Given the description of an element on the screen output the (x, y) to click on. 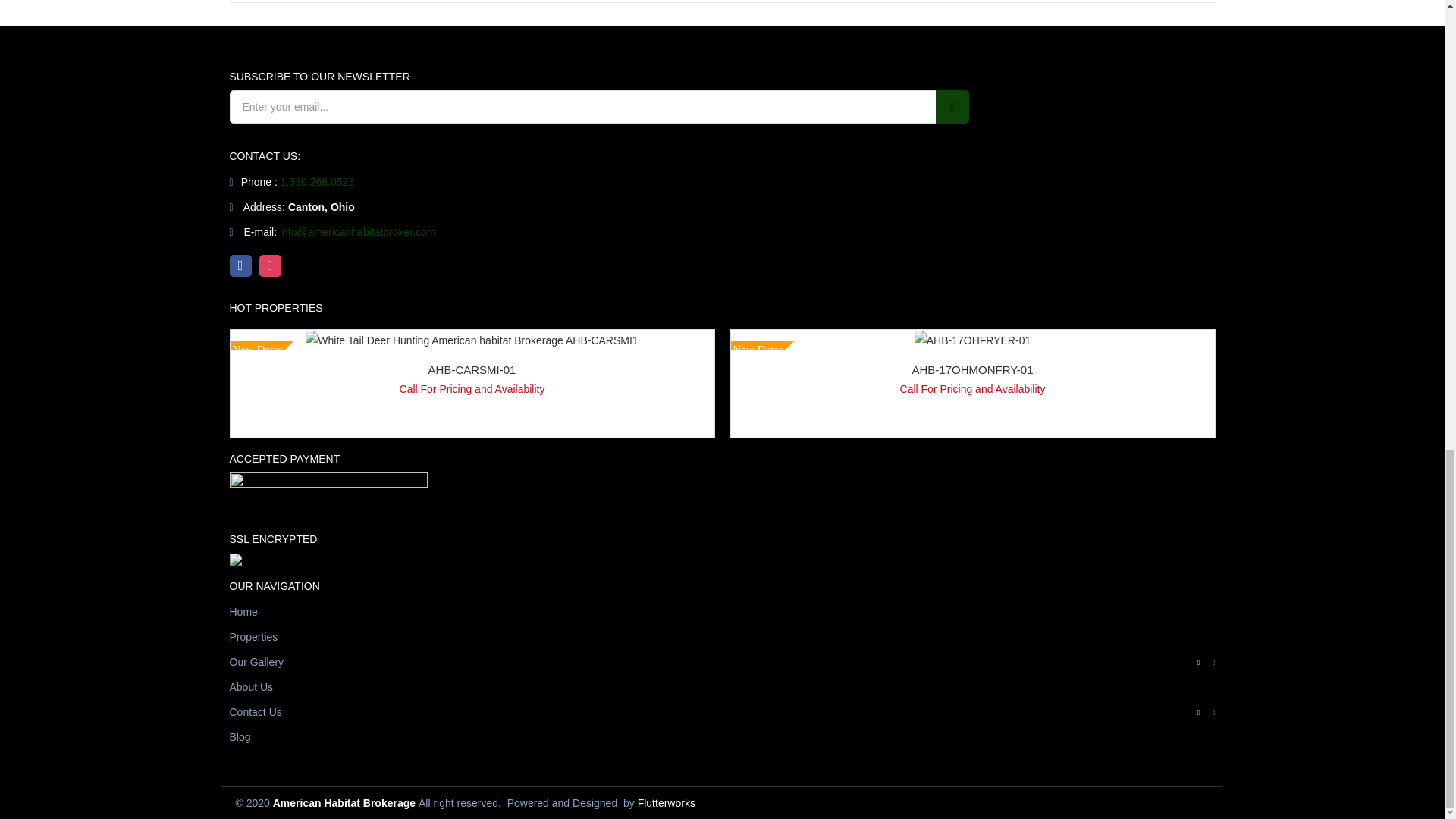
AHB-17OHMONFRY-01 (972, 339)
subscribe (952, 106)
credit-cards (327, 487)
lets-encrypt-ssl (357, 563)
AHB-CARSMI-01 (471, 339)
